Given the description of an element on the screen output the (x, y) to click on. 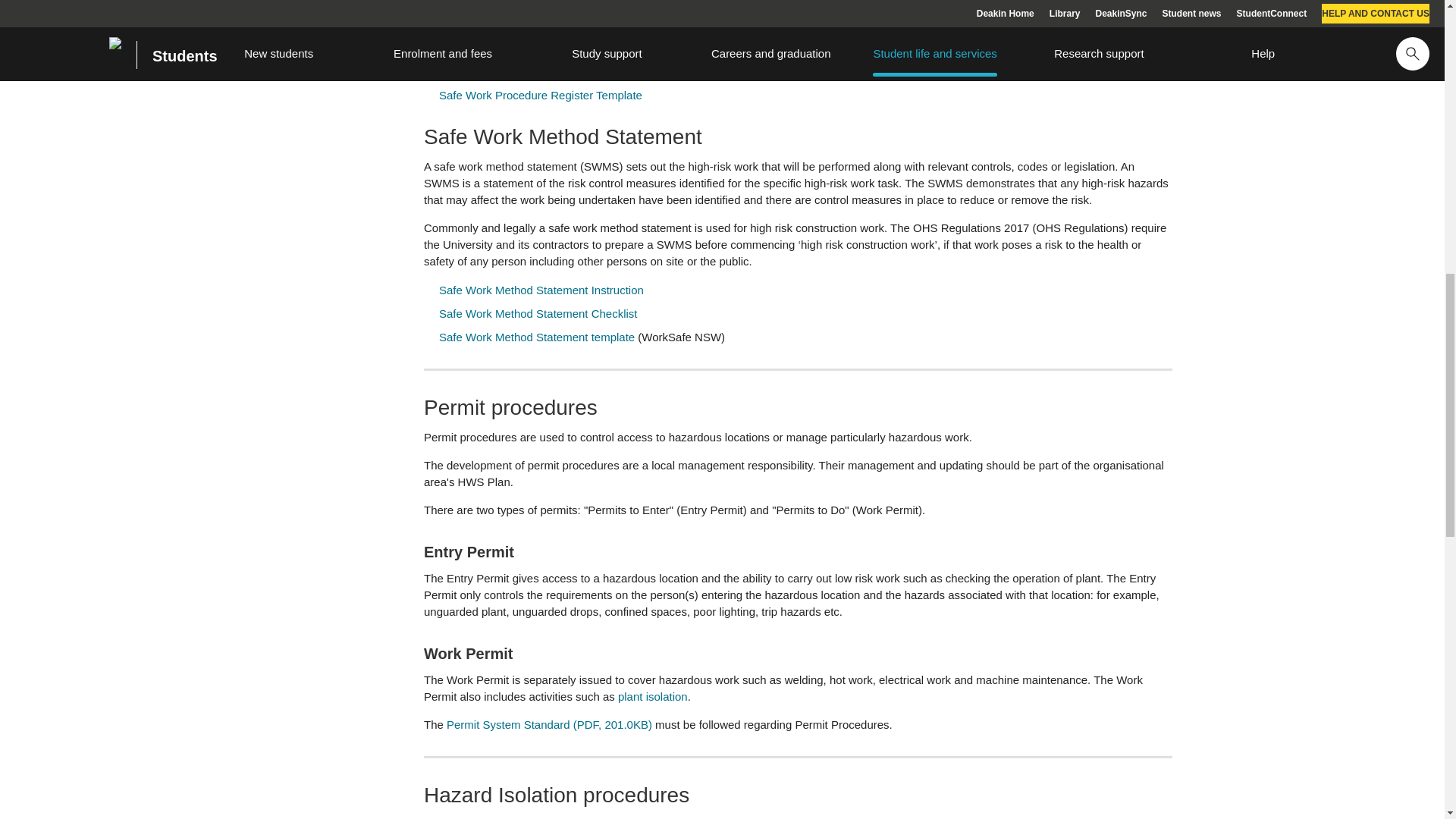
Permit system standard (549, 724)
SWMS Checklist (538, 313)
SWMS (538, 336)
Safe Work Procedure Template (517, 47)
Guidance for Writing Safe Work Procedures (549, 71)
Safe Work Procedure Register Template (540, 94)
SWMS Instruction (541, 289)
